Given the description of an element on the screen output the (x, y) to click on. 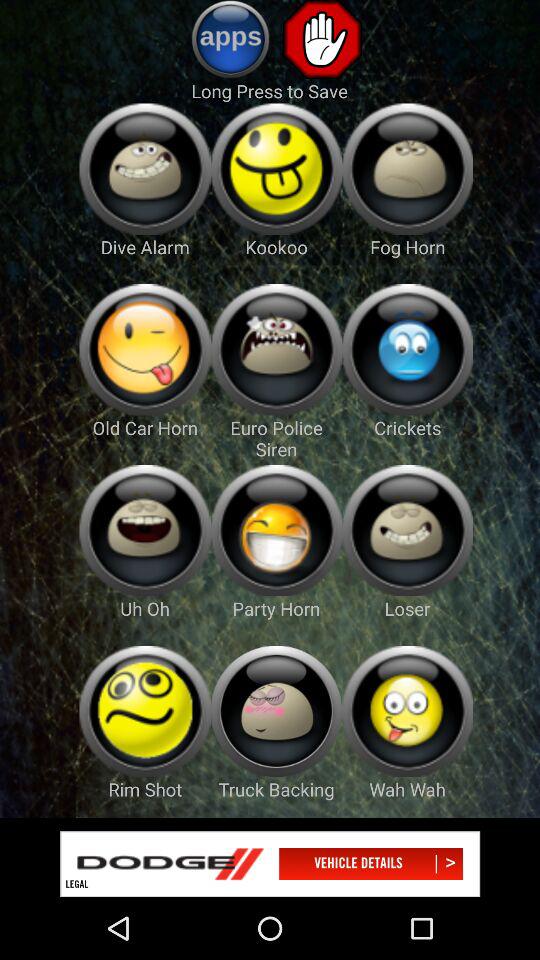
advert banner (270, 864)
